Given the description of an element on the screen output the (x, y) to click on. 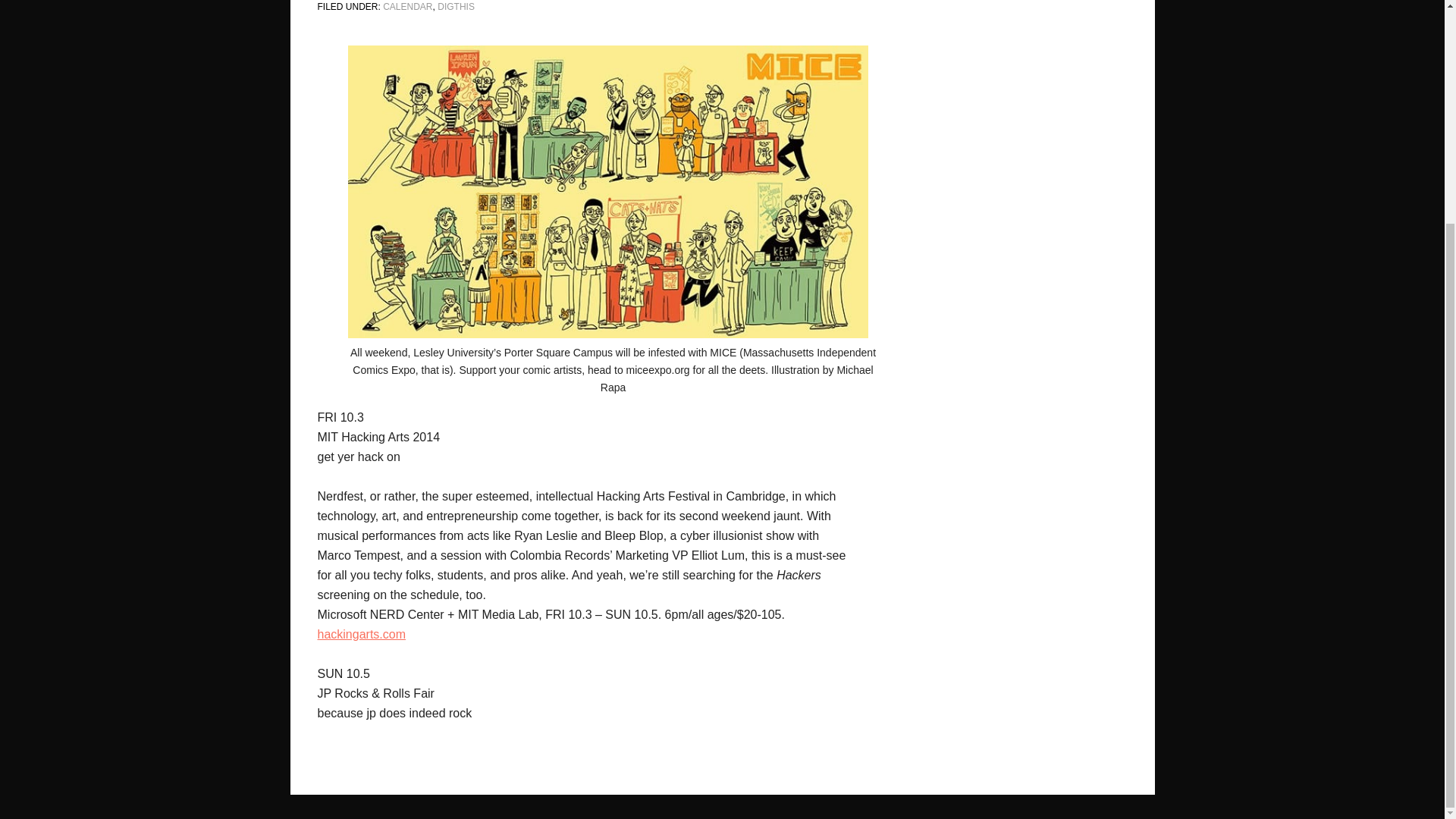
CALENDAR (407, 6)
hackingarts.com (361, 634)
DIGTHIS (456, 6)
